Given the description of an element on the screen output the (x, y) to click on. 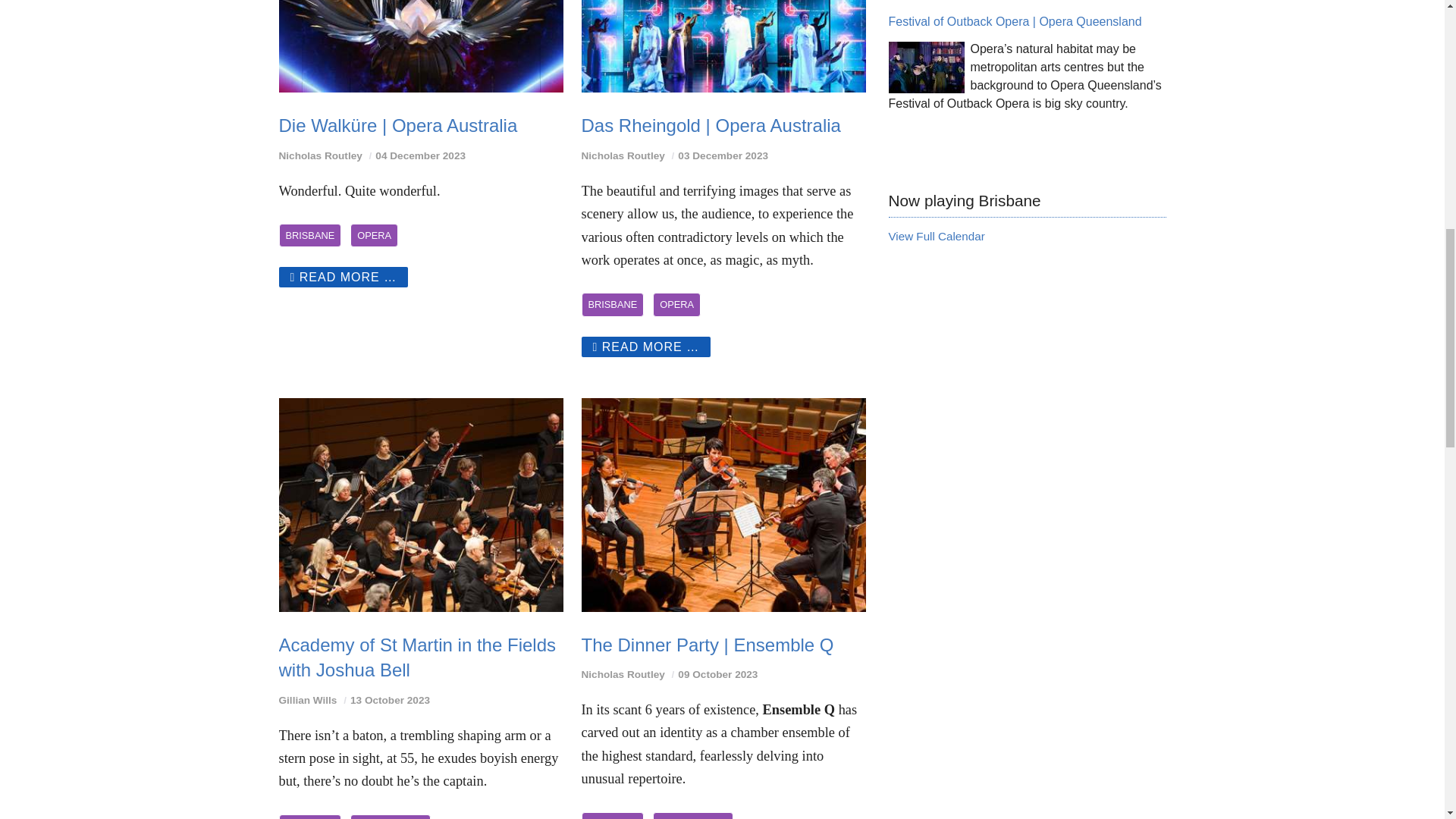
BRISBANE (611, 304)
BRISBANE (310, 235)
OPERA (676, 304)
OPERA (373, 235)
